Given the description of an element on the screen output the (x, y) to click on. 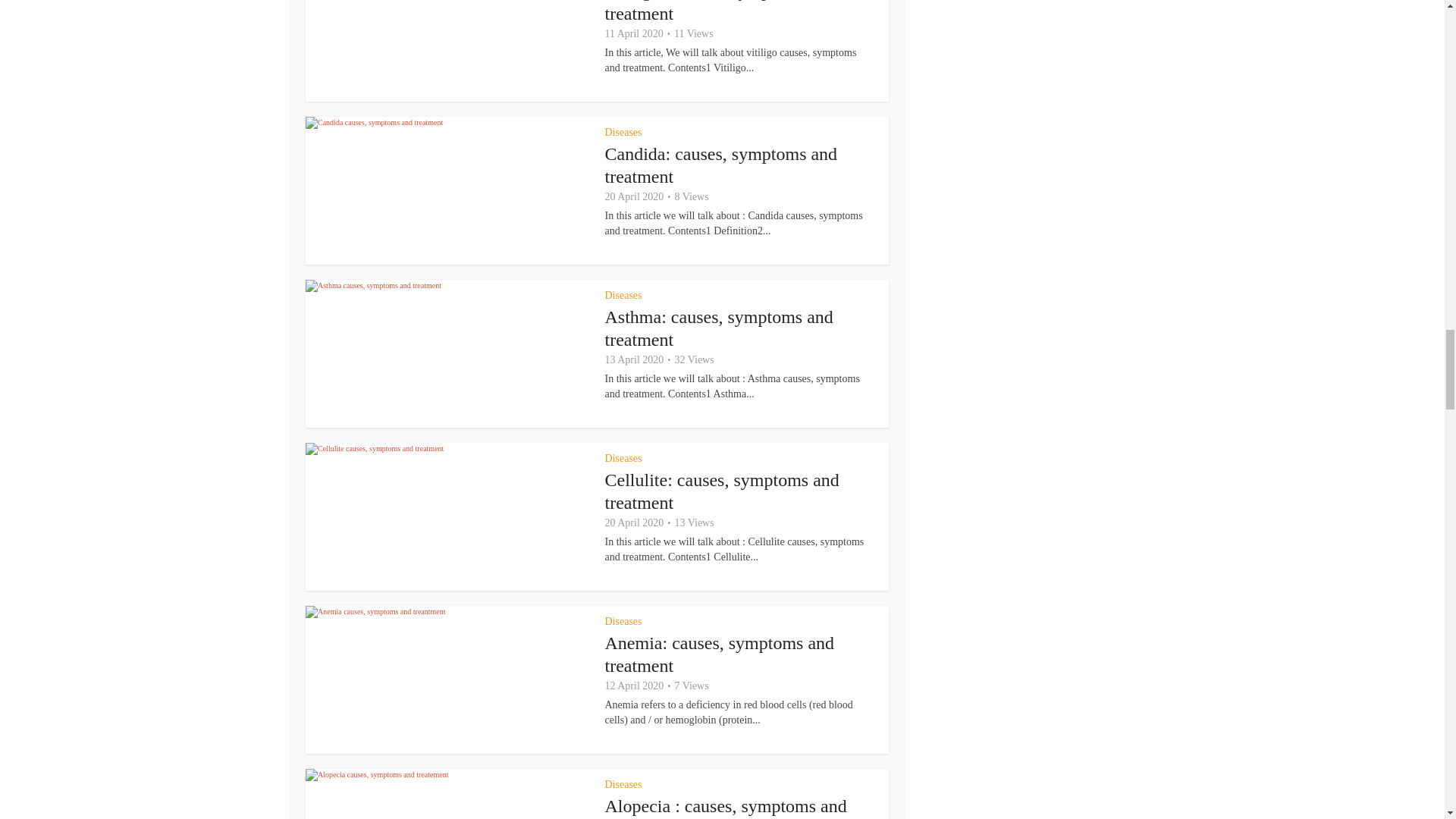
Cellulite: causes, symptoms and treatment (722, 491)
Vitiligo : causes, symptoms and treatment (721, 11)
Anemia: causes, symptoms and treatment (719, 654)
Asthma: causes, symptoms and treatment (718, 328)
Candida: causes, symptoms and treatment (721, 165)
